Given the description of an element on the screen output the (x, y) to click on. 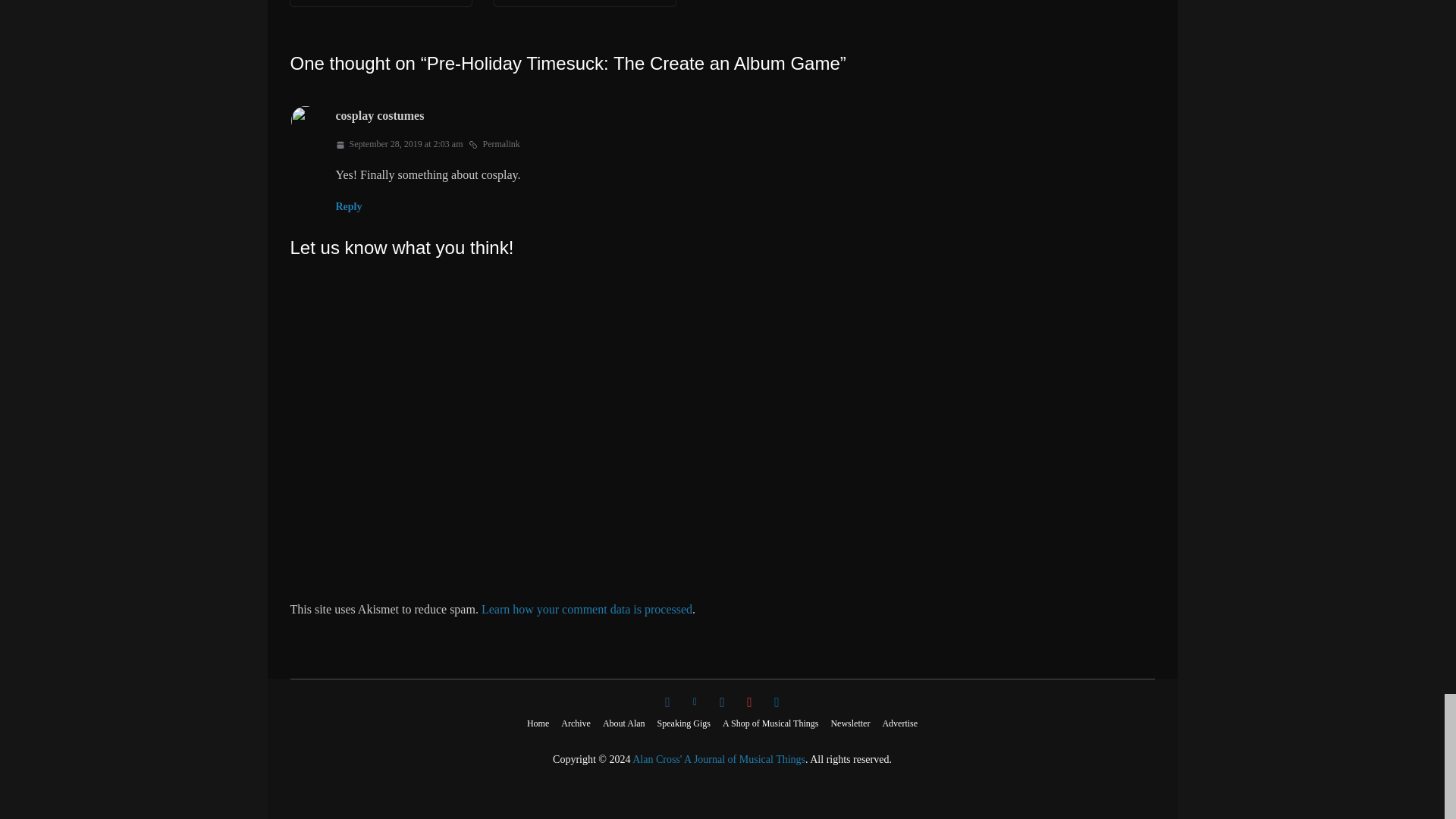
Permalink (493, 144)
Alan Cross' A Journal of Musical Things (718, 758)
